Given the description of an element on the screen output the (x, y) to click on. 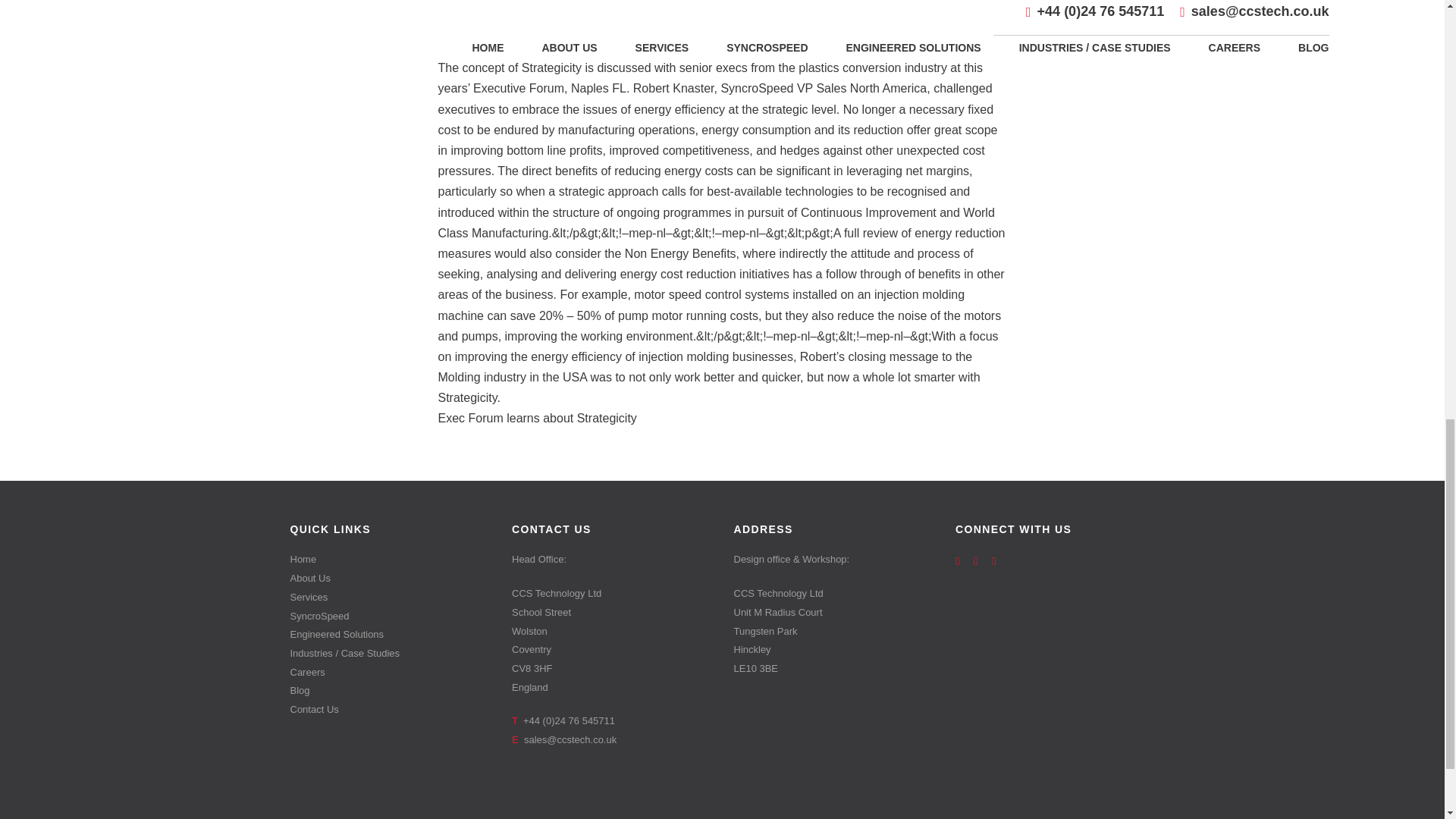
SyncroSpeed (389, 616)
SyncroSpeed (389, 616)
About Us (389, 578)
Engineered Solutions (389, 634)
About Us (389, 578)
Contact Us (389, 710)
Services (389, 597)
Engineered Solutions (389, 634)
Home (389, 559)
Services (389, 597)
